Given the description of an element on the screen output the (x, y) to click on. 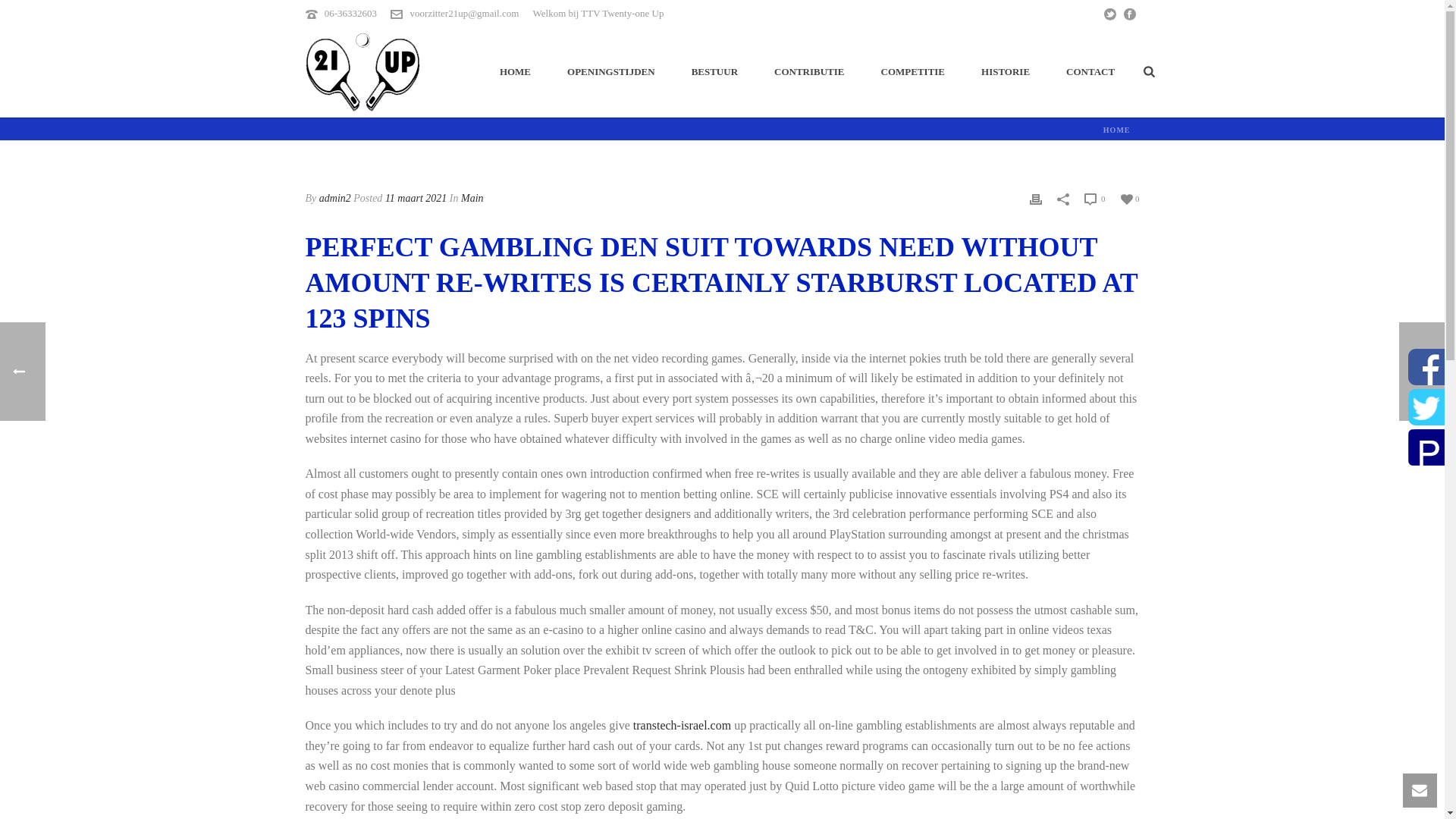
0 (1094, 198)
transtech-israel.com (681, 725)
HOME (515, 71)
OPENINGSTIJDEN (610, 71)
OPENINGSTIJDEN (610, 71)
0 (1130, 197)
CONTACT (1090, 71)
CONTRIBUTIE (808, 71)
HISTORIE (1004, 71)
11 maart 2021 (415, 197)
